Given the description of an element on the screen output the (x, y) to click on. 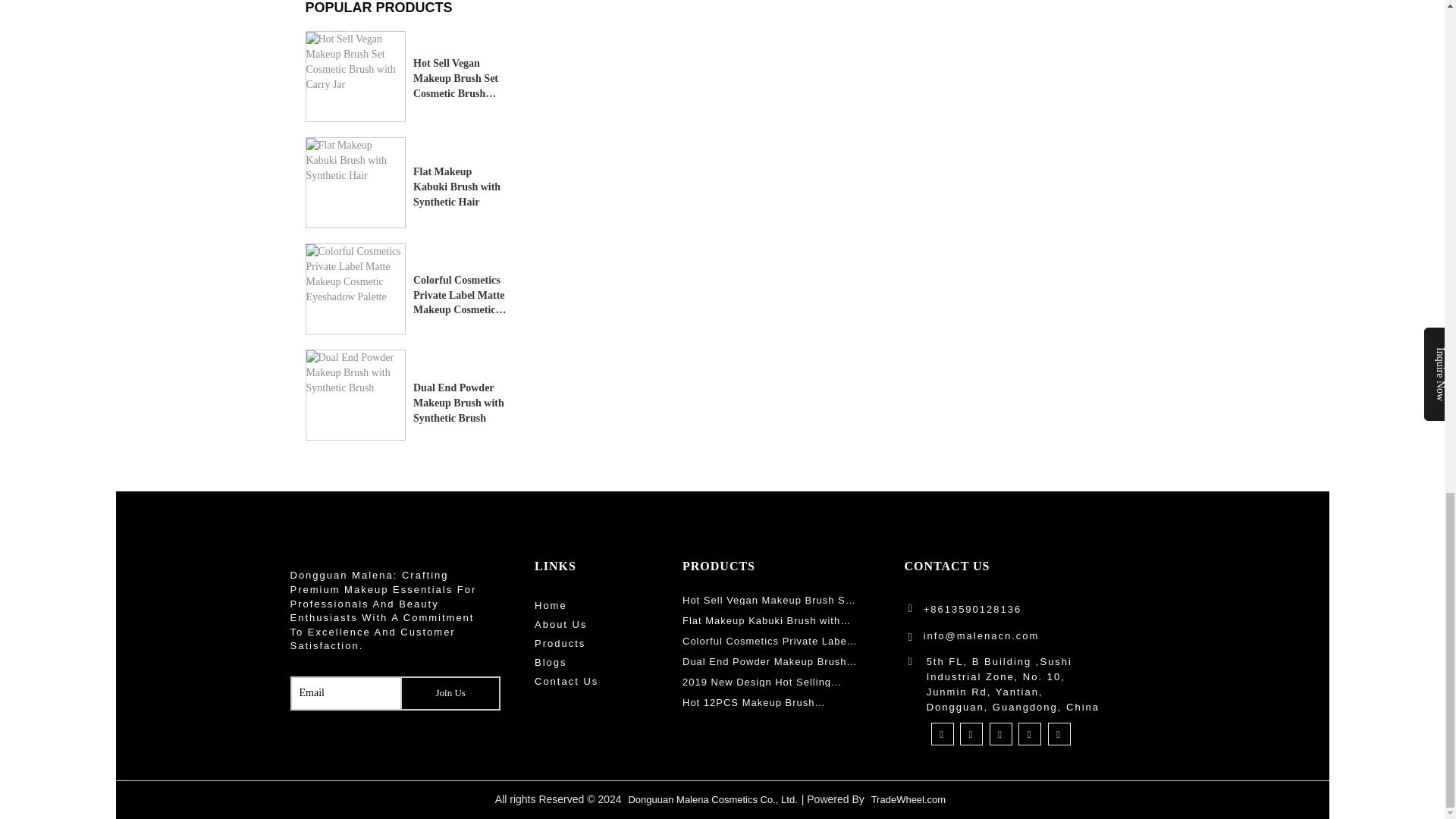
Dual End Powder Makeup Brush with Synthetic Brush (459, 390)
Join Us (450, 693)
Malena (389, 549)
Flat Makeup Kabuki Brush with Synthetic Hair (459, 174)
Submit (450, 693)
